Given the description of an element on the screen output the (x, y) to click on. 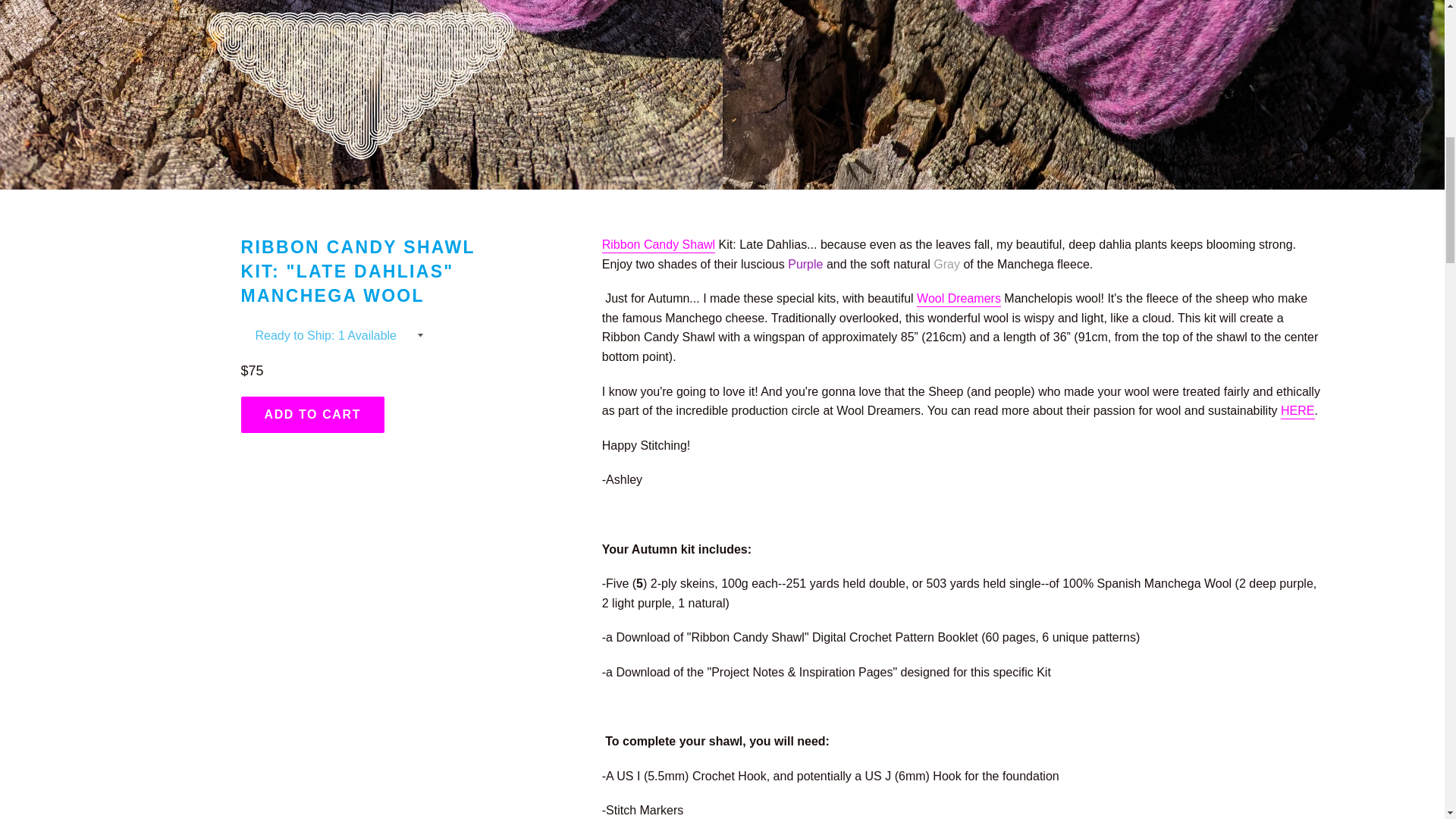
Wool Dreamer's Ethical Process (959, 299)
HERE (1297, 411)
Ribbon Candy Shawl (658, 245)
Wool Dreamers (959, 299)
ADD TO CART (313, 414)
